Given the description of an element on the screen output the (x, y) to click on. 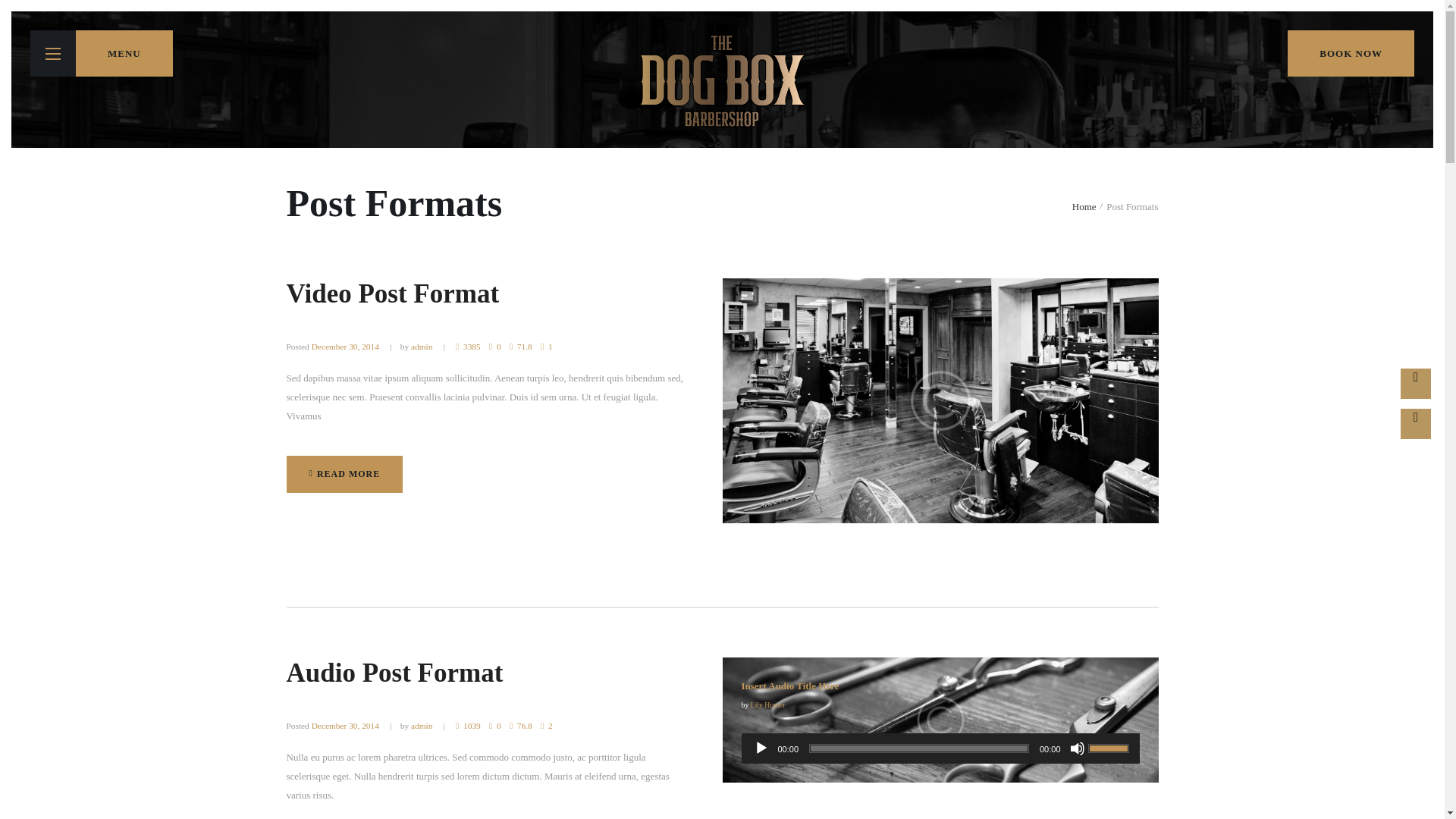
December 30, 2014 (344, 725)
admin (421, 725)
1 (546, 346)
Views - 3385 (467, 346)
Play (761, 748)
Video Post Format (392, 293)
71.8 (520, 346)
Rating - 71.8 (520, 346)
Audio Post Format (344, 474)
December 30, 2014 (394, 672)
Views - 1039 (344, 346)
0 (467, 725)
0 (494, 725)
Comments - 0 (494, 346)
